Given the description of an element on the screen output the (x, y) to click on. 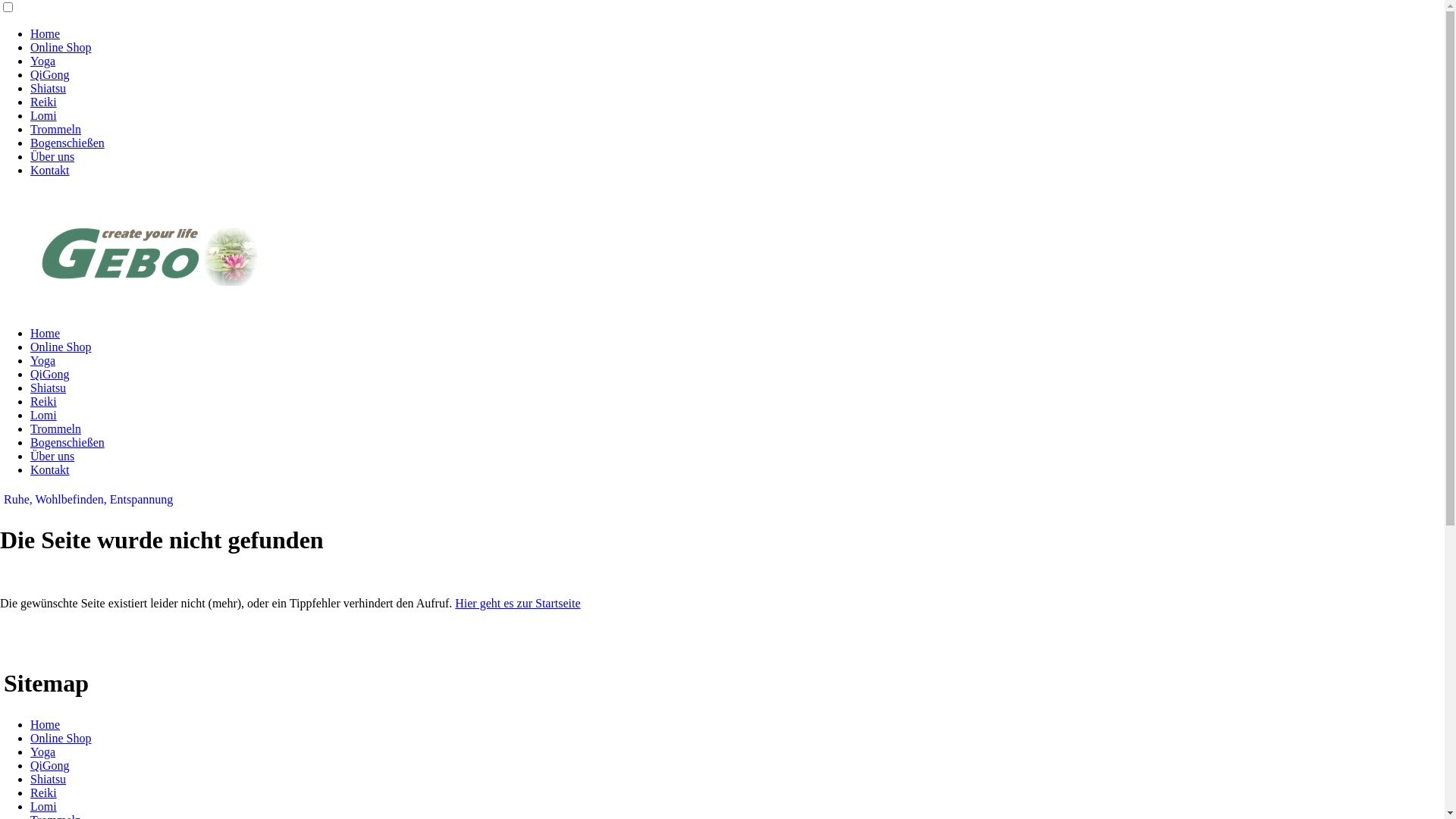
Yoga Element type: text (42, 60)
Hier geht es zur Startseite Element type: text (517, 602)
Shiatsu Element type: text (47, 778)
Lomi Element type: text (43, 806)
Lomi Element type: text (43, 115)
Yoga Element type: text (42, 360)
Reiki Element type: text (43, 101)
Home Element type: text (44, 332)
Home Element type: text (44, 33)
QiGong Element type: text (49, 765)
Kontakt Element type: text (49, 469)
QiGong Element type: text (49, 74)
Trommeln Element type: text (55, 428)
Online Shop Element type: text (60, 346)
QiGong Element type: text (49, 373)
Shiatsu Element type: text (47, 87)
Reiki Element type: text (43, 401)
Lomi Element type: text (43, 414)
Kontakt Element type: text (49, 169)
Reiki Element type: text (43, 792)
Online Shop Element type: text (60, 737)
Shiatsu Element type: text (47, 387)
Trommeln Element type: text (55, 128)
Online Shop Element type: text (60, 46)
Home Element type: text (44, 724)
Ruhe, Wohlbefinden, Entspannung Element type: text (87, 498)
Yoga Element type: text (42, 751)
